Given the description of an element on the screen output the (x, y) to click on. 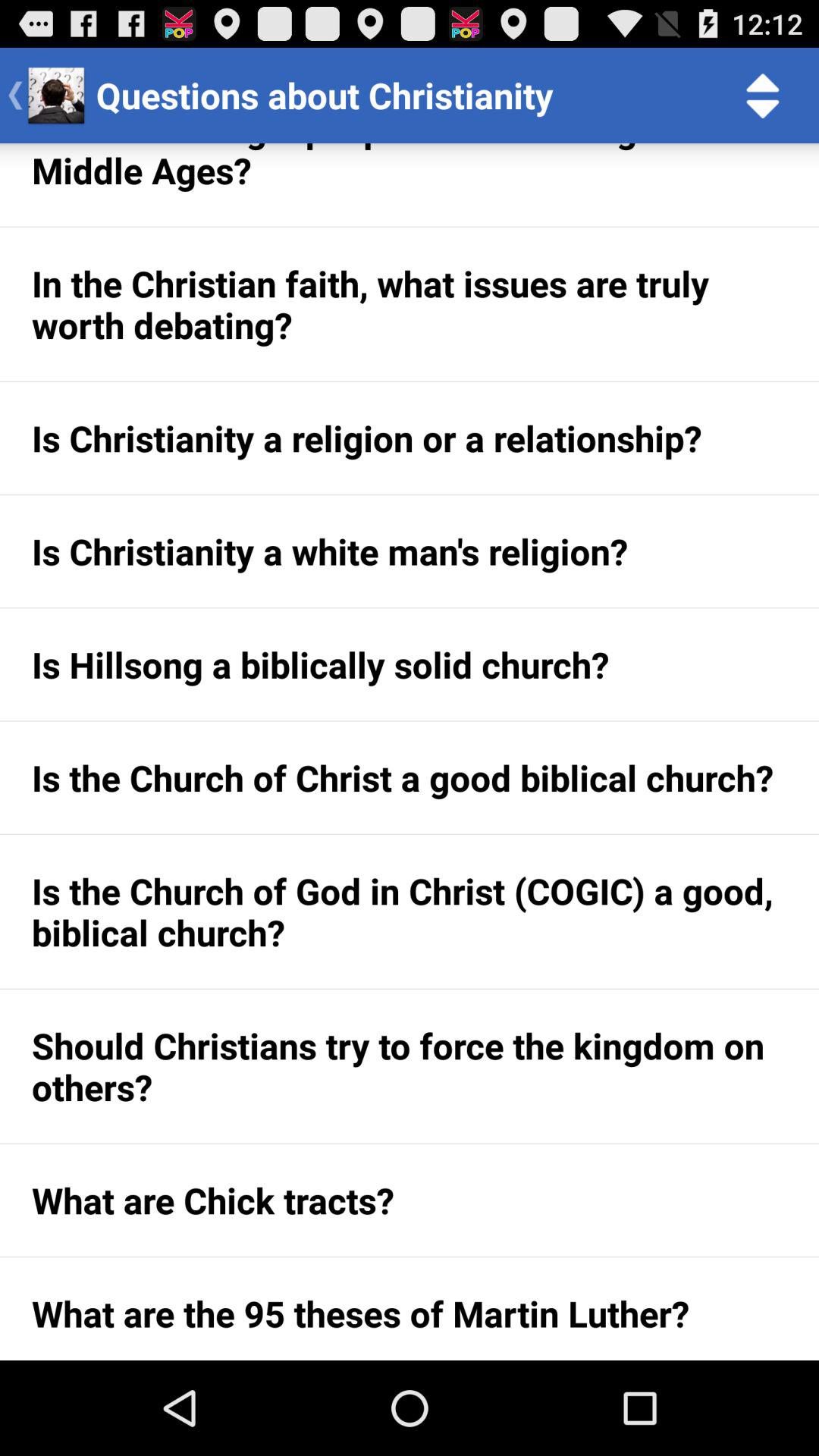
select the app above what are chick app (409, 1066)
